Given the description of an element on the screen output the (x, y) to click on. 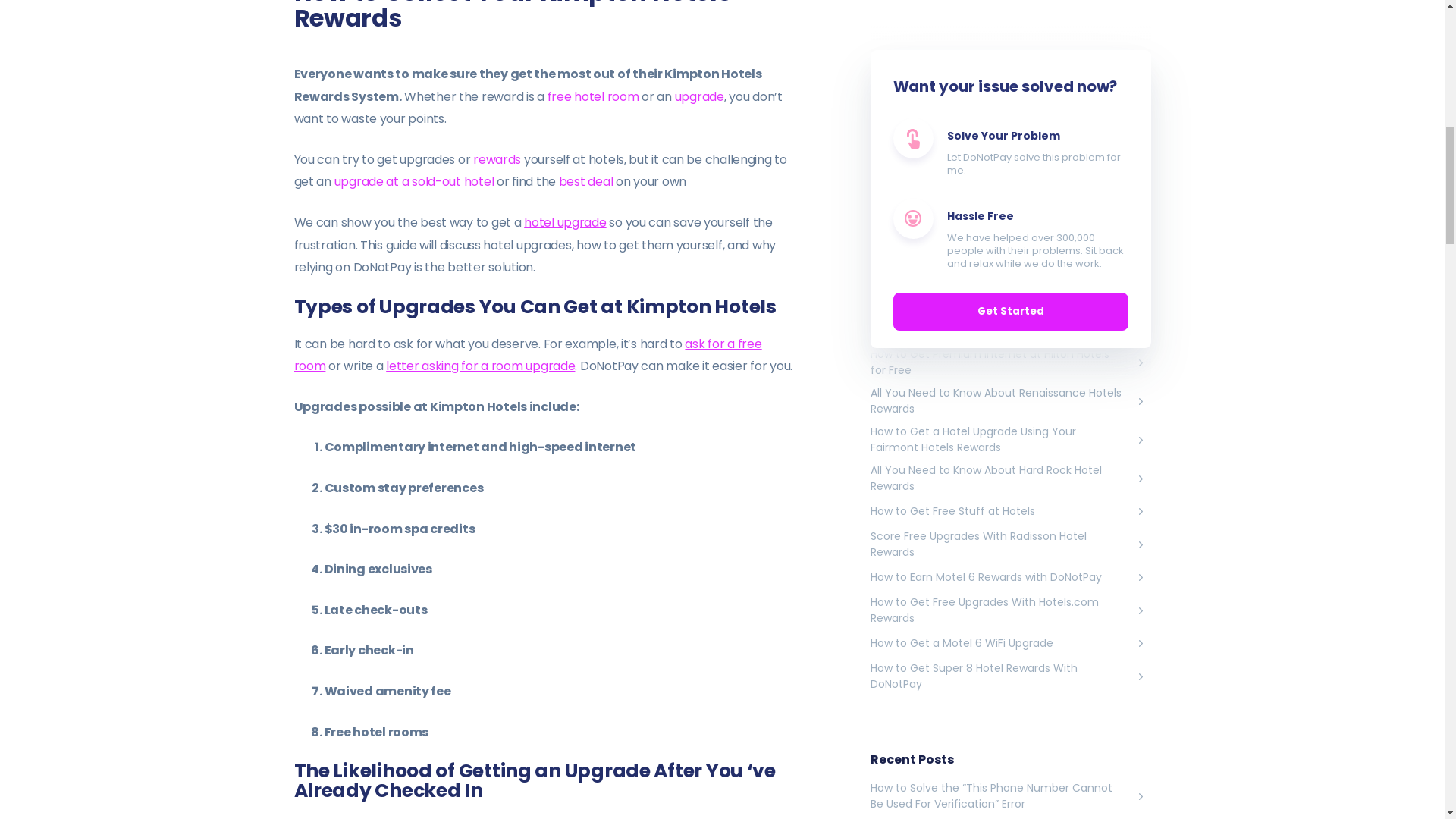
rewards (497, 159)
best deal (585, 181)
upgrade (697, 96)
letter asking for a room upgrade (480, 365)
free hotel room (593, 96)
hotel upgrade (564, 221)
ask for a free room (527, 354)
upgrade at a sold-out hotel (414, 181)
